Given the description of an element on the screen output the (x, y) to click on. 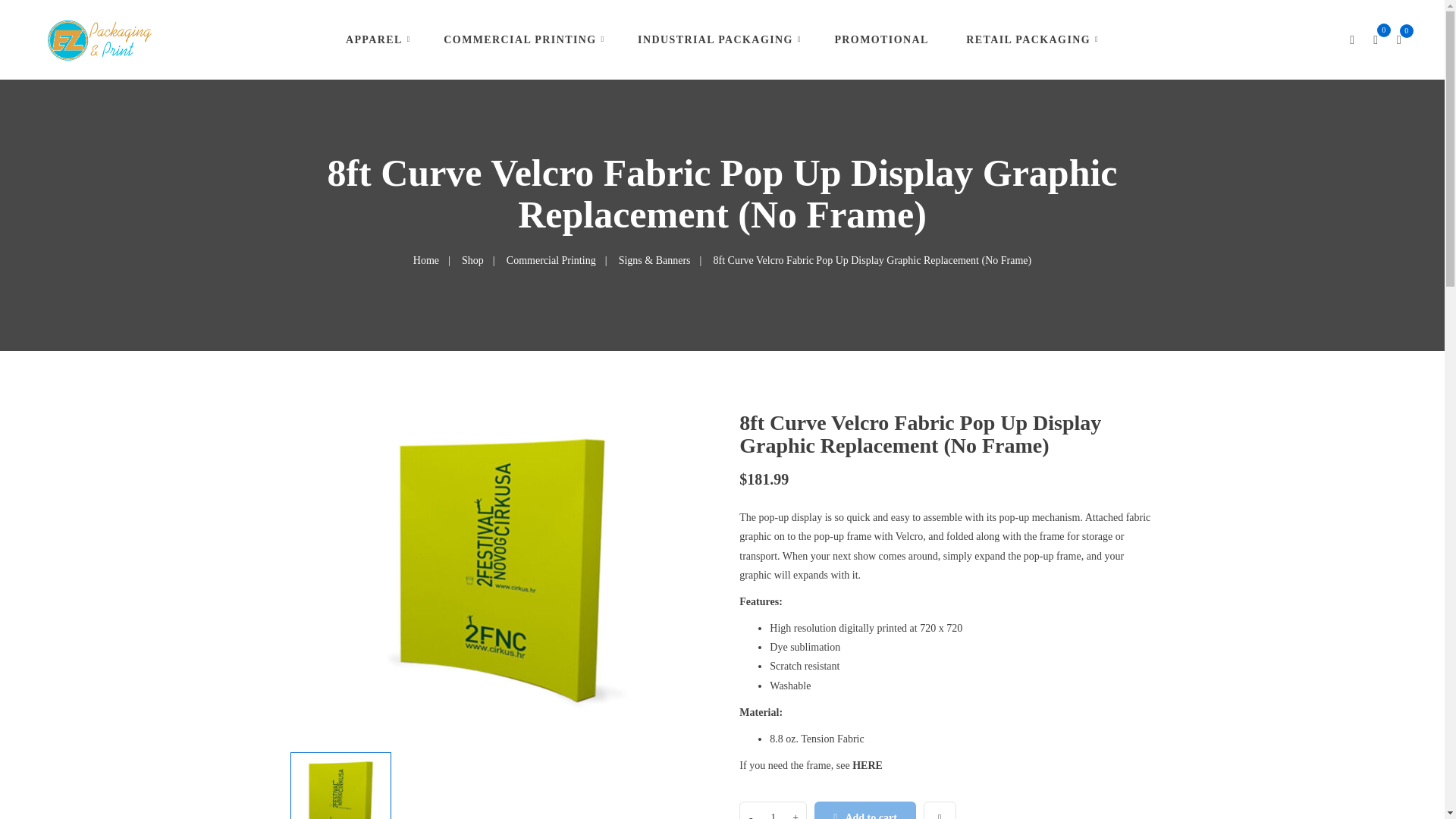
Qty (773, 811)
Commercial Printing (550, 260)
1 (773, 811)
- (750, 810)
